Given the description of an element on the screen output the (x, y) to click on. 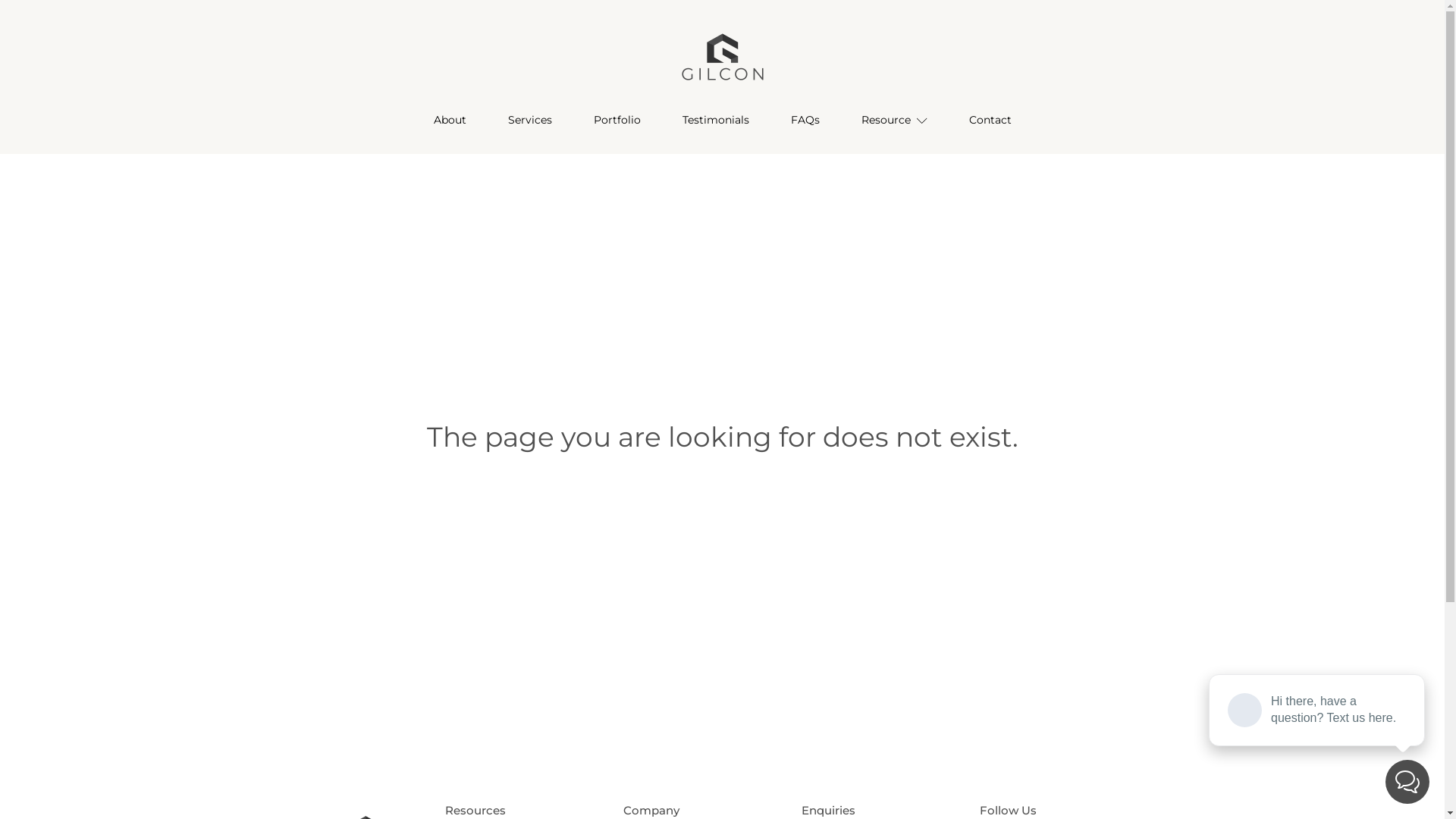
FAQs Element type: text (804, 119)
Services Element type: text (529, 119)
Resource Element type: text (893, 119)
Portfolio Element type: text (616, 119)
About Element type: text (449, 119)
Testimonials Element type: text (715, 119)
Contact Element type: text (989, 119)
